Given the description of an element on the screen output the (x, y) to click on. 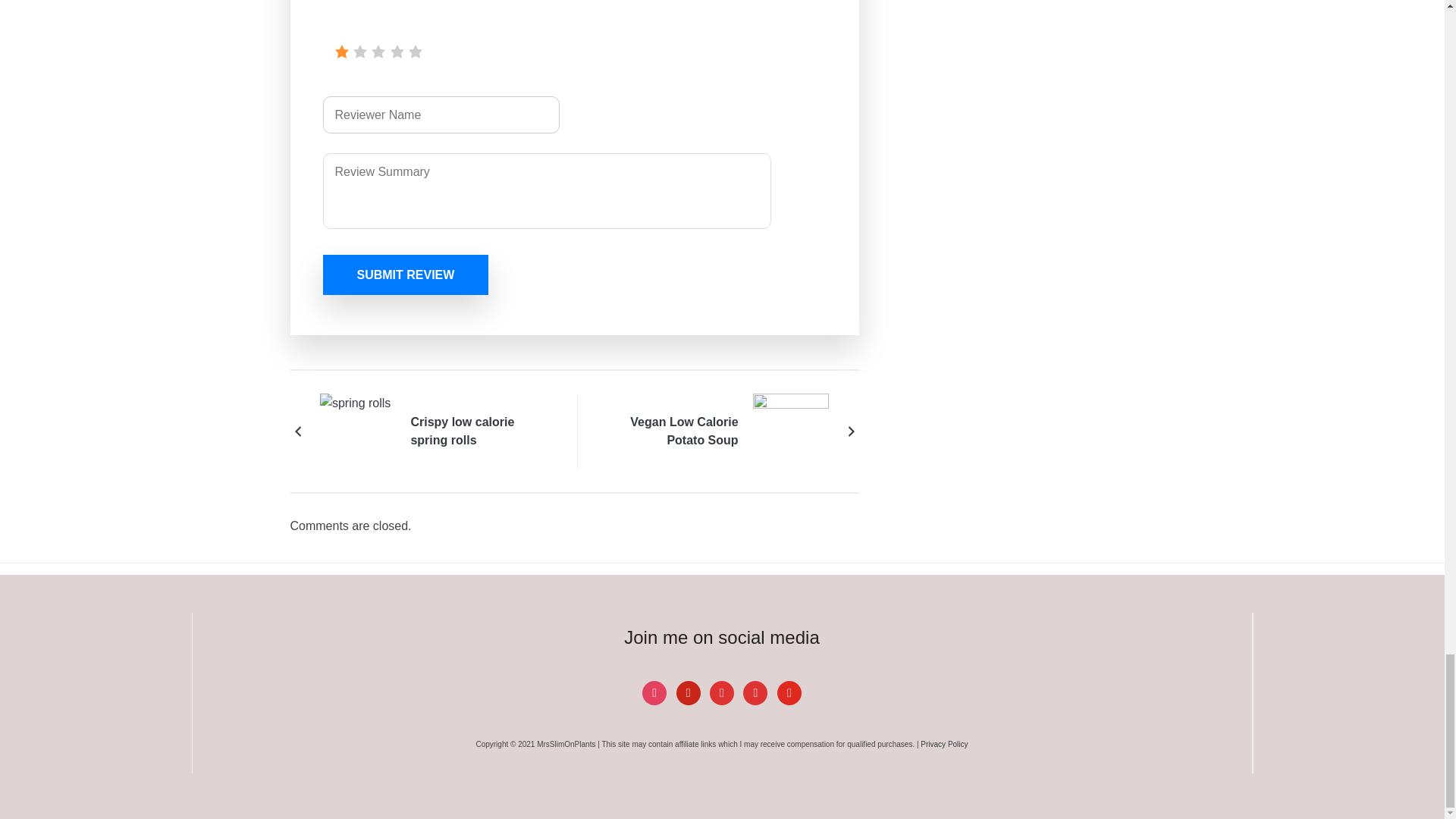
Default Label (721, 691)
Instagram (654, 691)
Default Label (688, 691)
Crispy low calorie spring rolls (480, 431)
Crispy low calorie spring rolls (357, 430)
Vegan Low Calorie Potato Soup (667, 431)
Vegan Low Calorie Potato Soup (790, 430)
